Given the description of an element on the screen output the (x, y) to click on. 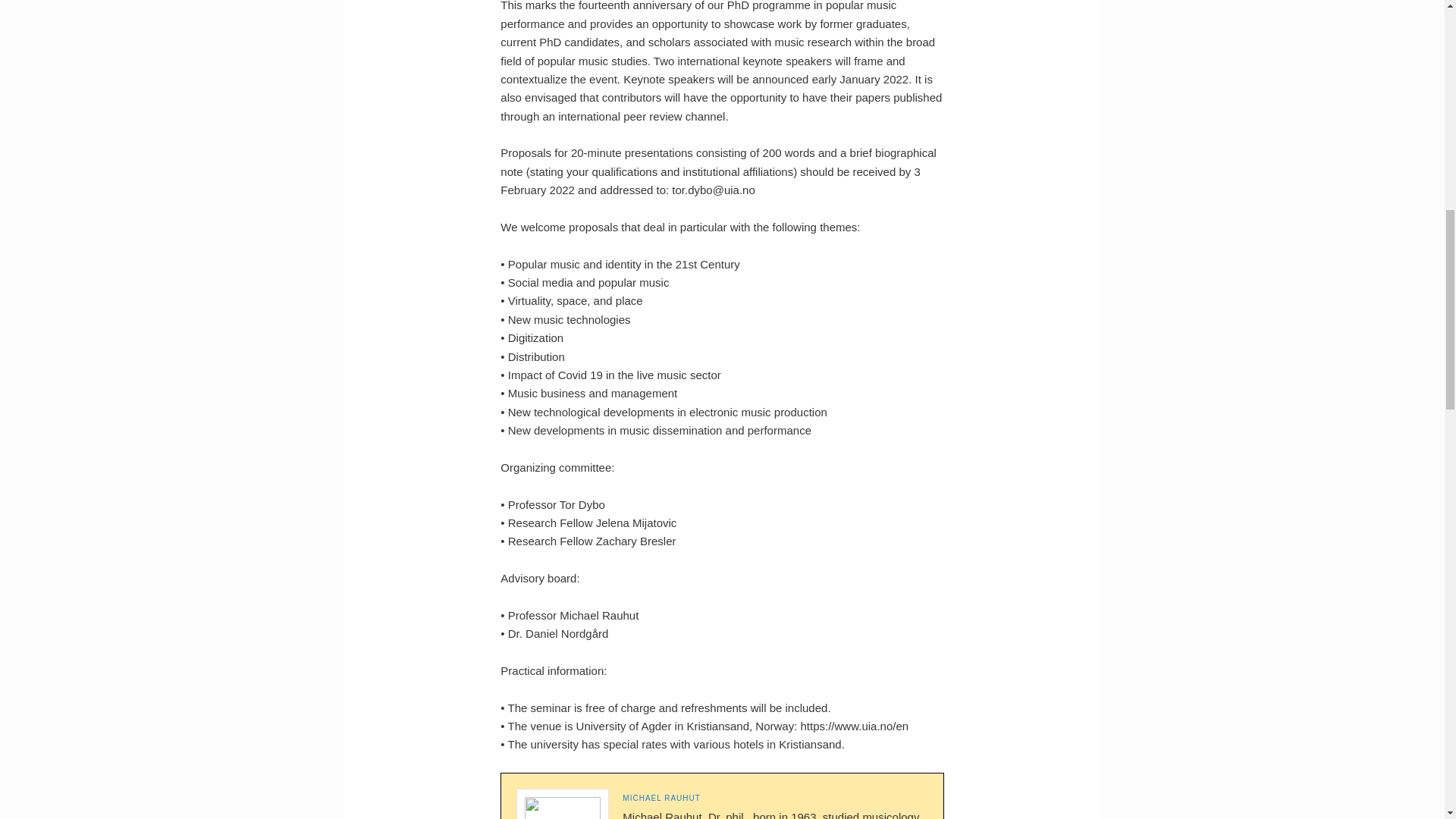
MICHAEL RAUHUT (661, 797)
